Given the description of an element on the screen output the (x, y) to click on. 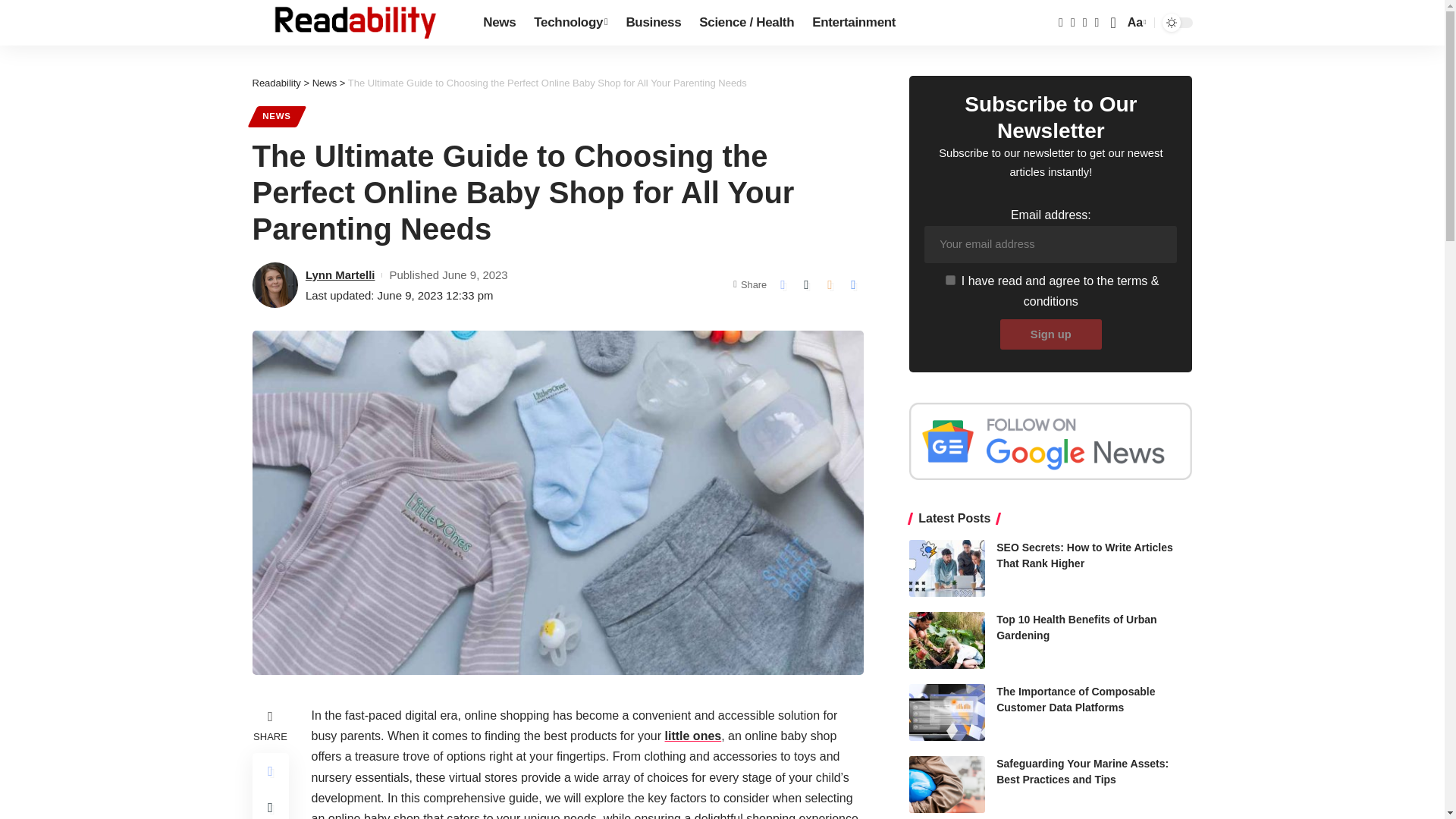
Top 10 Health Benefits of Urban Gardening (946, 640)
News (499, 22)
Safeguarding Your Marine Assets: Best Practices and Tips (946, 784)
Go to Readability. (275, 82)
Readability (354, 22)
Entertainment (853, 22)
SEO Secrets: How to Write Articles That Rank Higher (946, 568)
Sign up (1135, 22)
The Importance of Composable Customer Data Platforms (1051, 334)
